Given the description of an element on the screen output the (x, y) to click on. 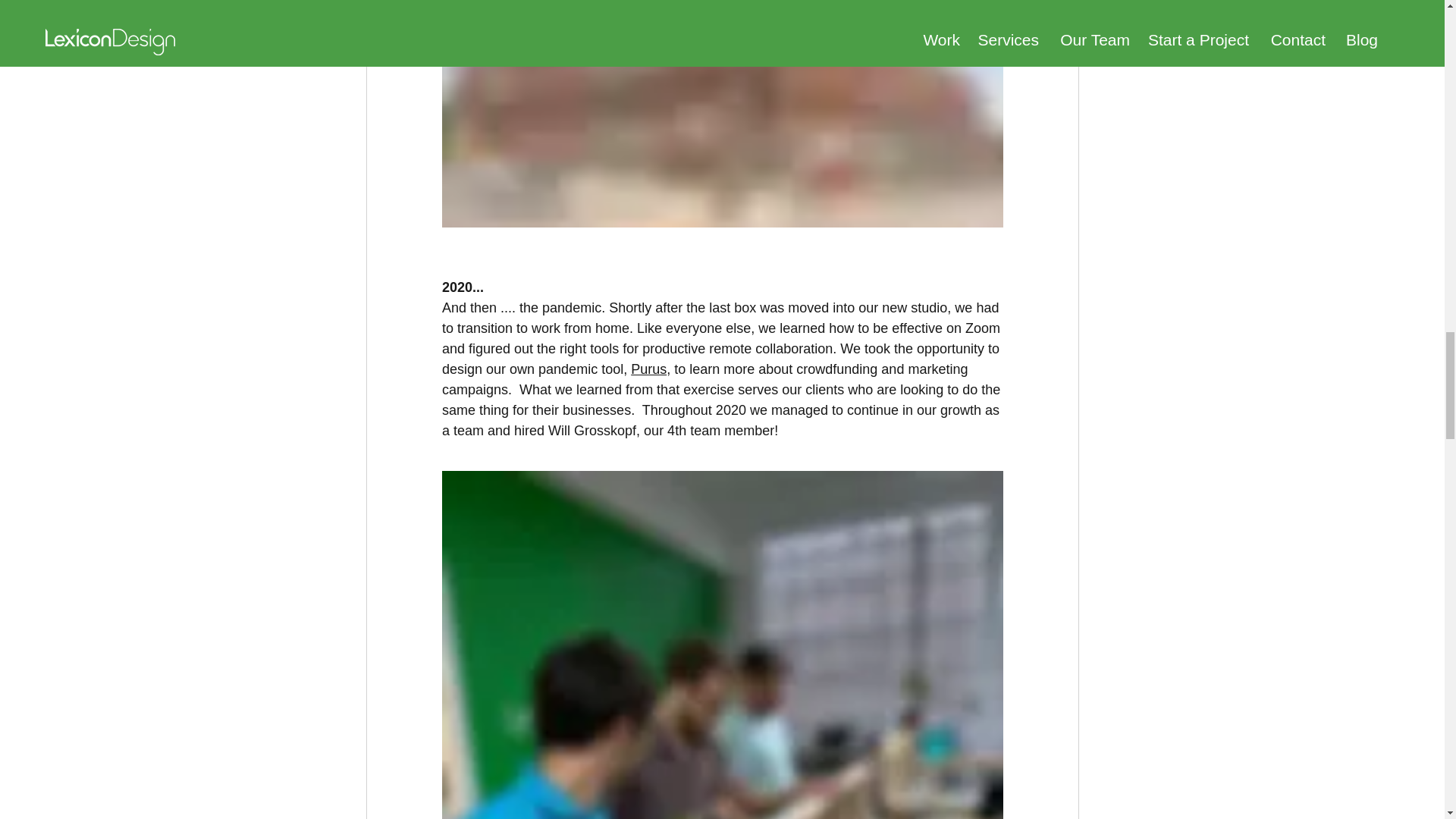
Purus (648, 368)
